Given the description of an element on the screen output the (x, y) to click on. 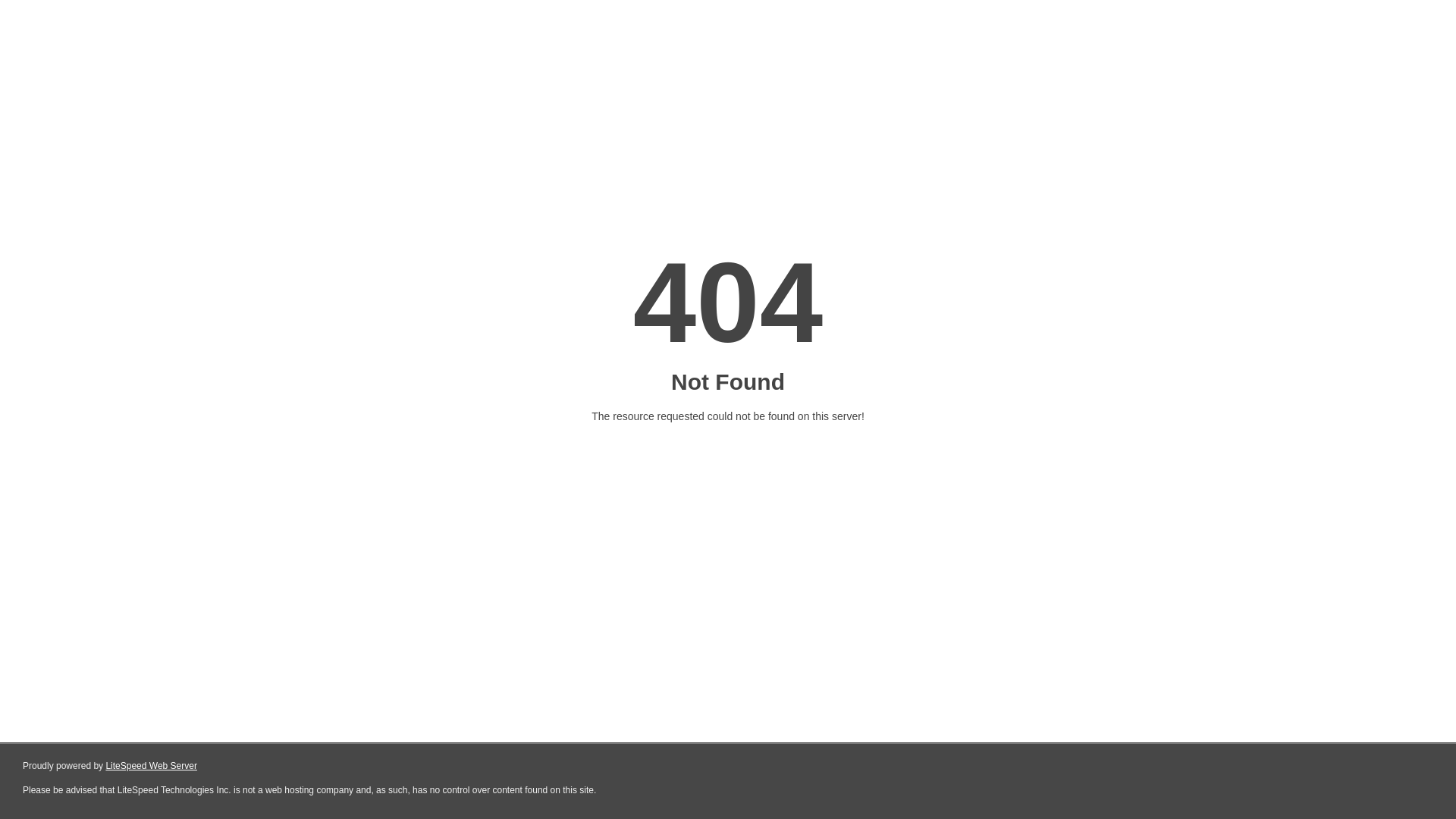
LiteSpeed Web Server Element type: text (151, 765)
